Given the description of an element on the screen output the (x, y) to click on. 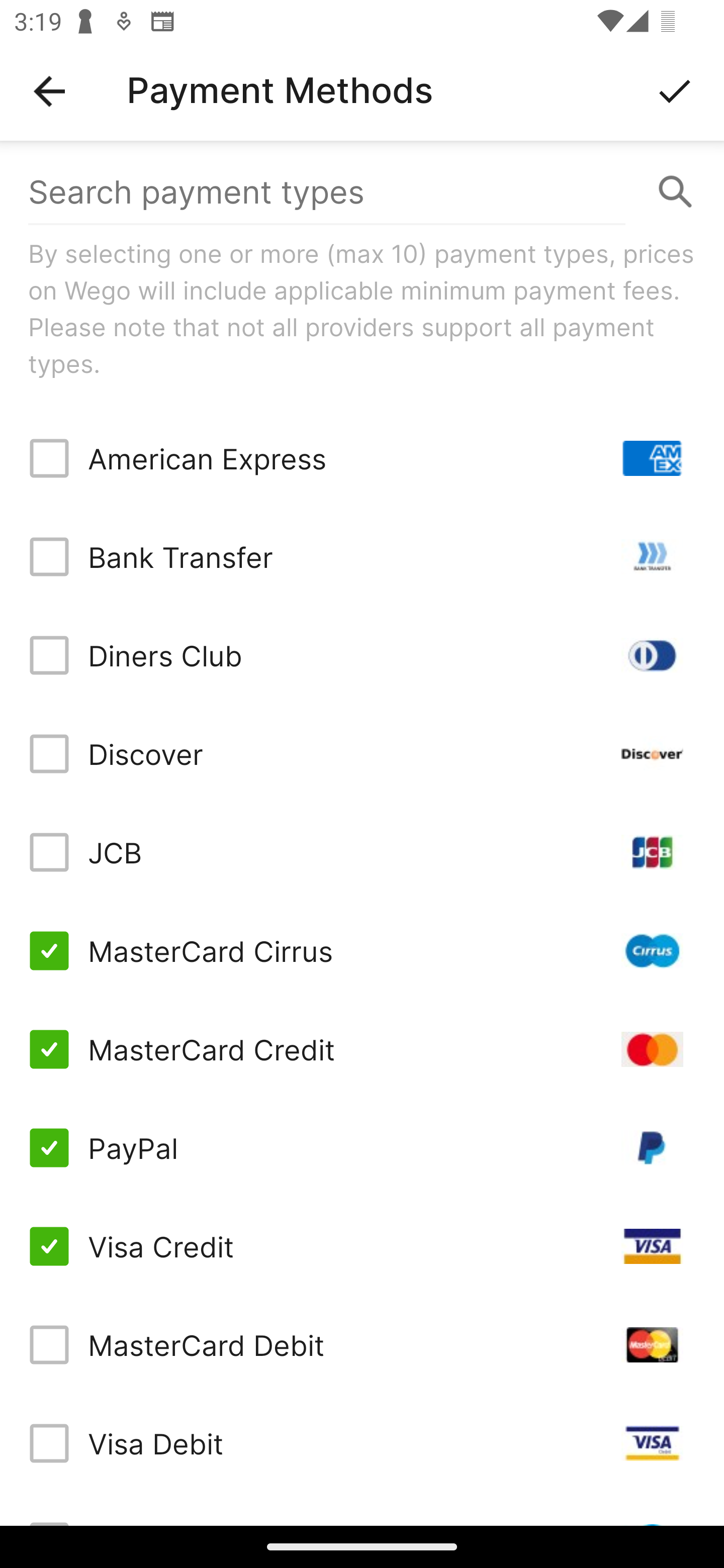
Search payment types  (361, 191)
American Express (362, 458)
Bank Transfer (362, 557)
Diners Club (362, 655)
Discover (362, 753)
JCB (362, 851)
MasterCard Cirrus (362, 950)
MasterCard Credit (362, 1049)
PayPal (362, 1147)
Visa Credit (362, 1245)
MasterCard Debit (362, 1344)
Visa Debit (362, 1442)
